Given the description of an element on the screen output the (x, y) to click on. 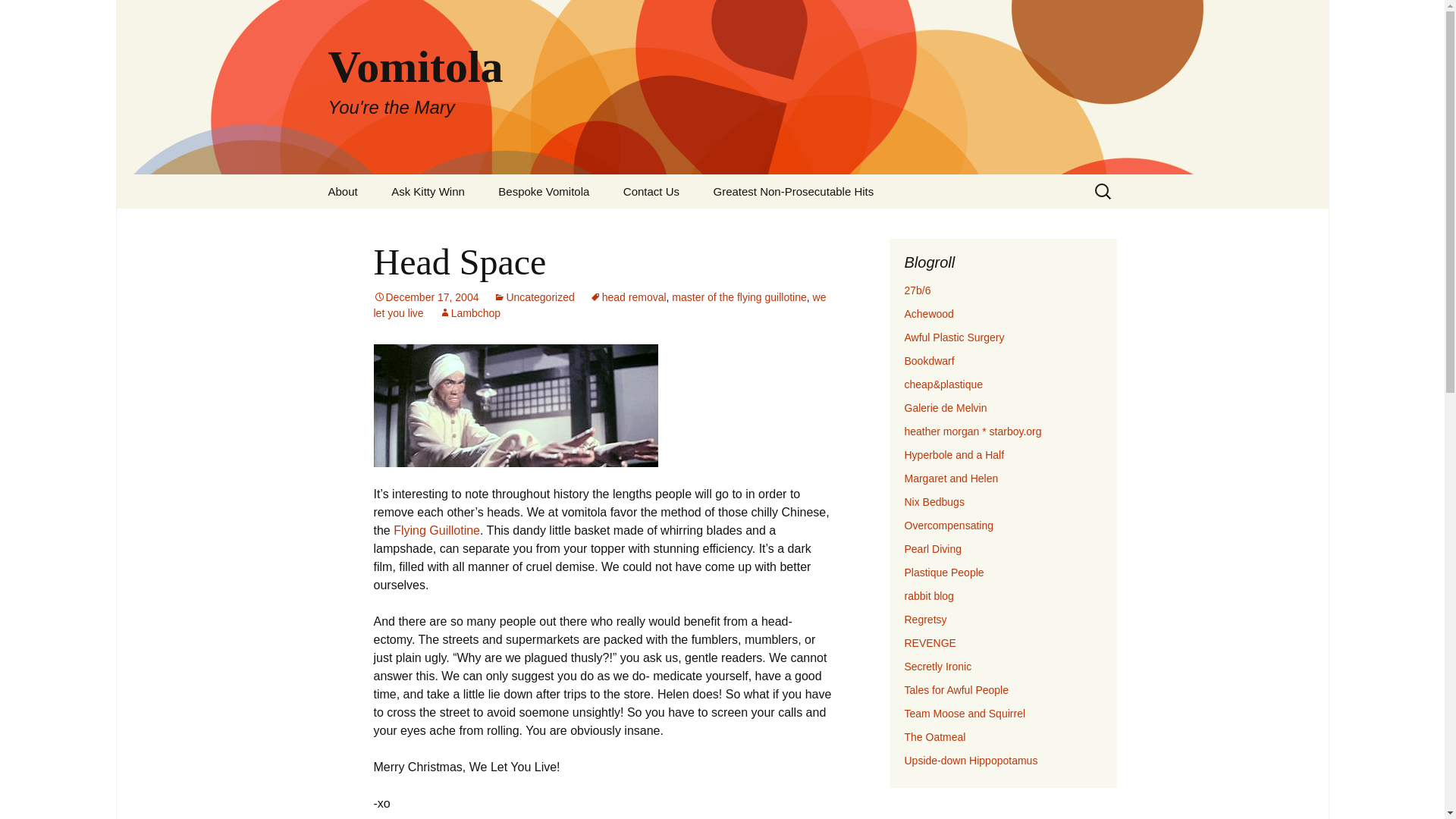
REVENGE (929, 643)
Pearl Diving (932, 548)
Margaret and Helen (950, 478)
Search (18, 15)
velociraptors, pirates, sharks and boats (954, 454)
The Oatmeal (934, 736)
we let you live (598, 305)
Nix Bedbugs (933, 501)
Hyperbole and a Half (954, 454)
Greatest Non-Prosecutable Hits (792, 191)
